Given the description of an element on the screen output the (x, y) to click on. 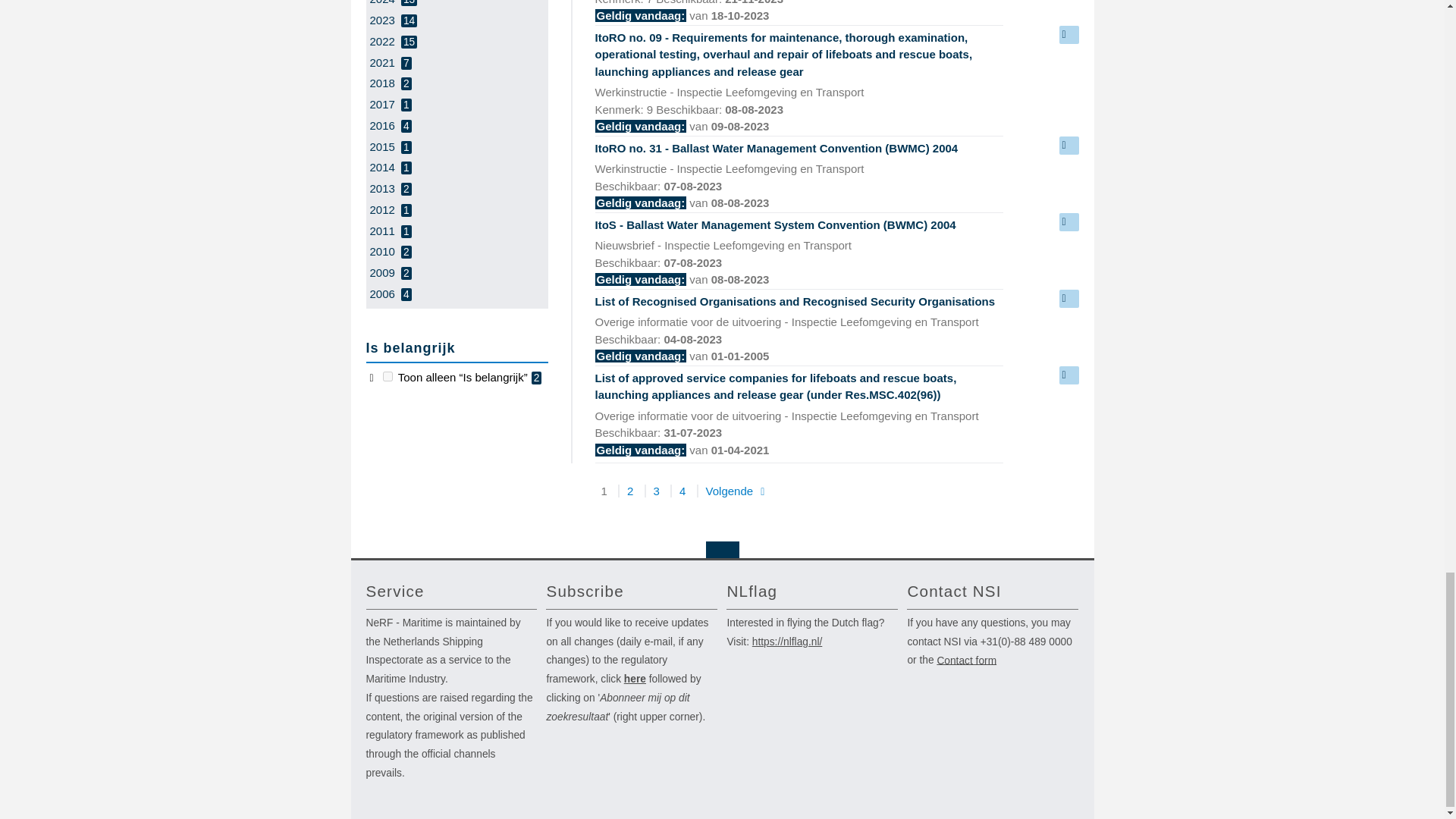
on (387, 376)
